Given the description of an element on the screen output the (x, y) to click on. 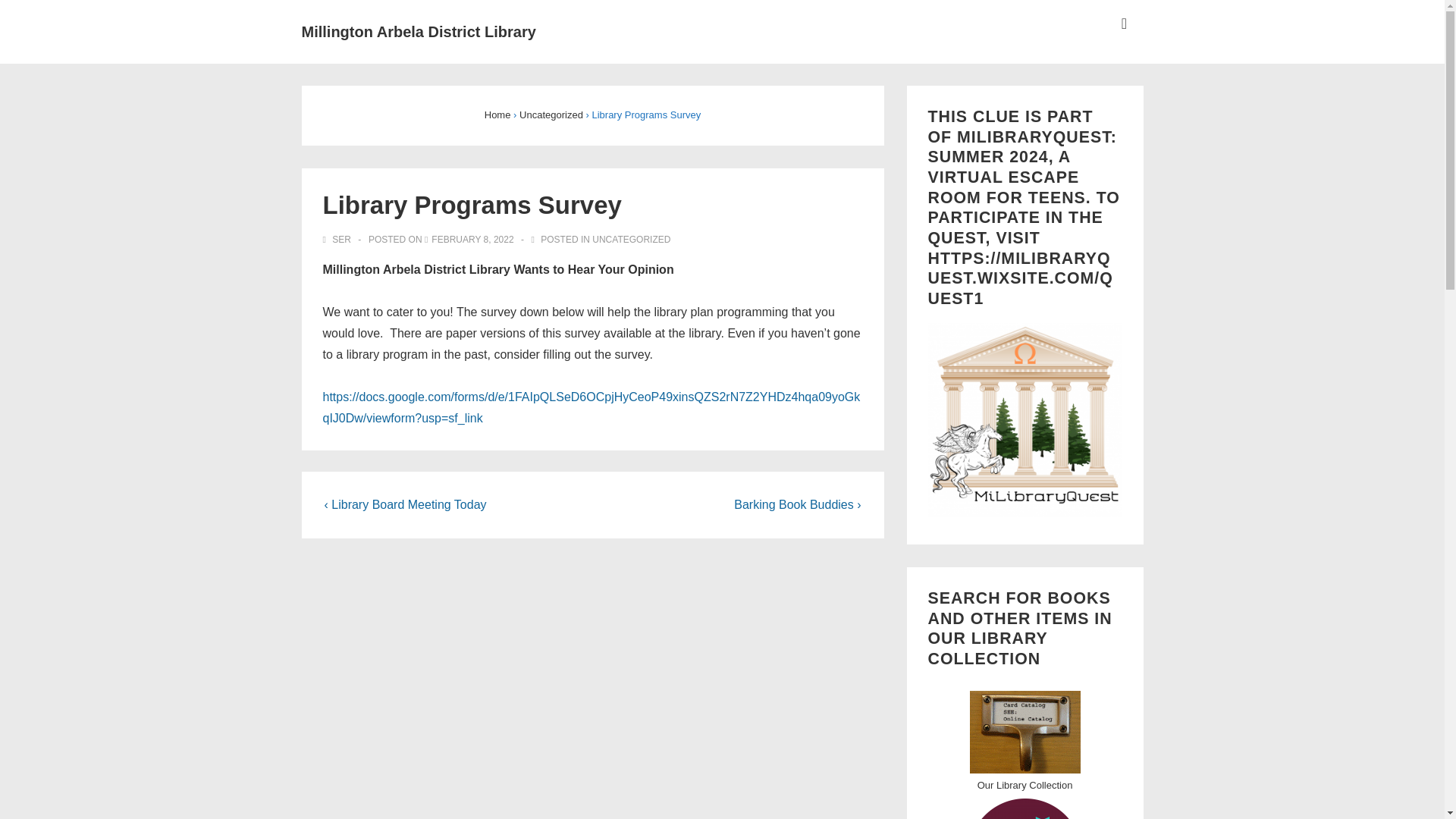
UNCATEGORIZED (630, 239)
Uncategorized (551, 114)
MENU (1123, 23)
SER (338, 239)
FEBRUARY 8, 2022 (471, 239)
Library Programs Survey (471, 239)
Home (497, 114)
Millington Arbela District Library (418, 31)
View all posts by SER (338, 239)
